Given the description of an element on the screen output the (x, y) to click on. 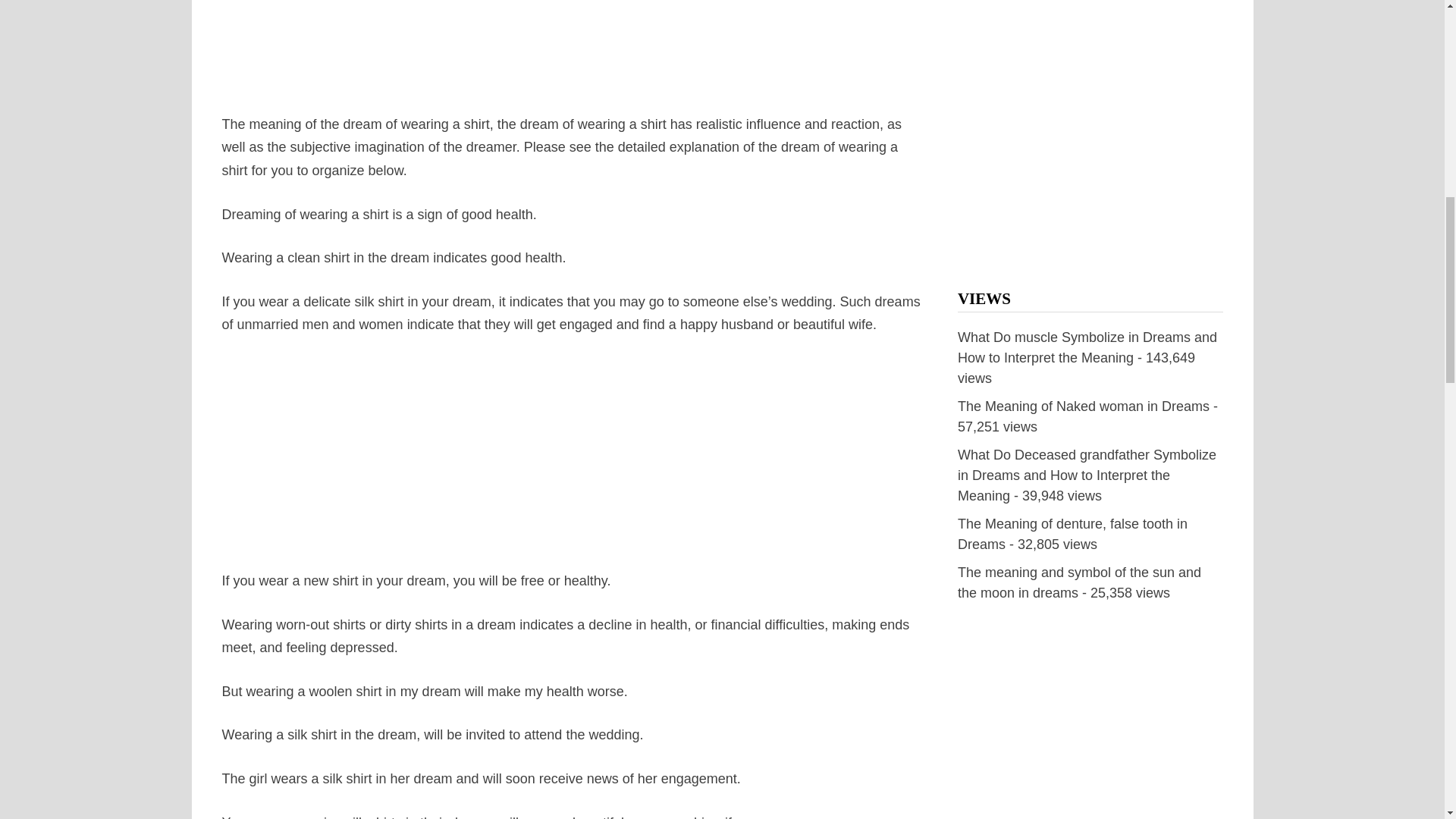
The Meaning of Naked woman in Dreams (1083, 406)
The Meaning of denture, false tooth in Dreams (1073, 534)
The meaning and symbol of the sun and the moon in dreams (1079, 582)
